Given the description of an element on the screen output the (x, y) to click on. 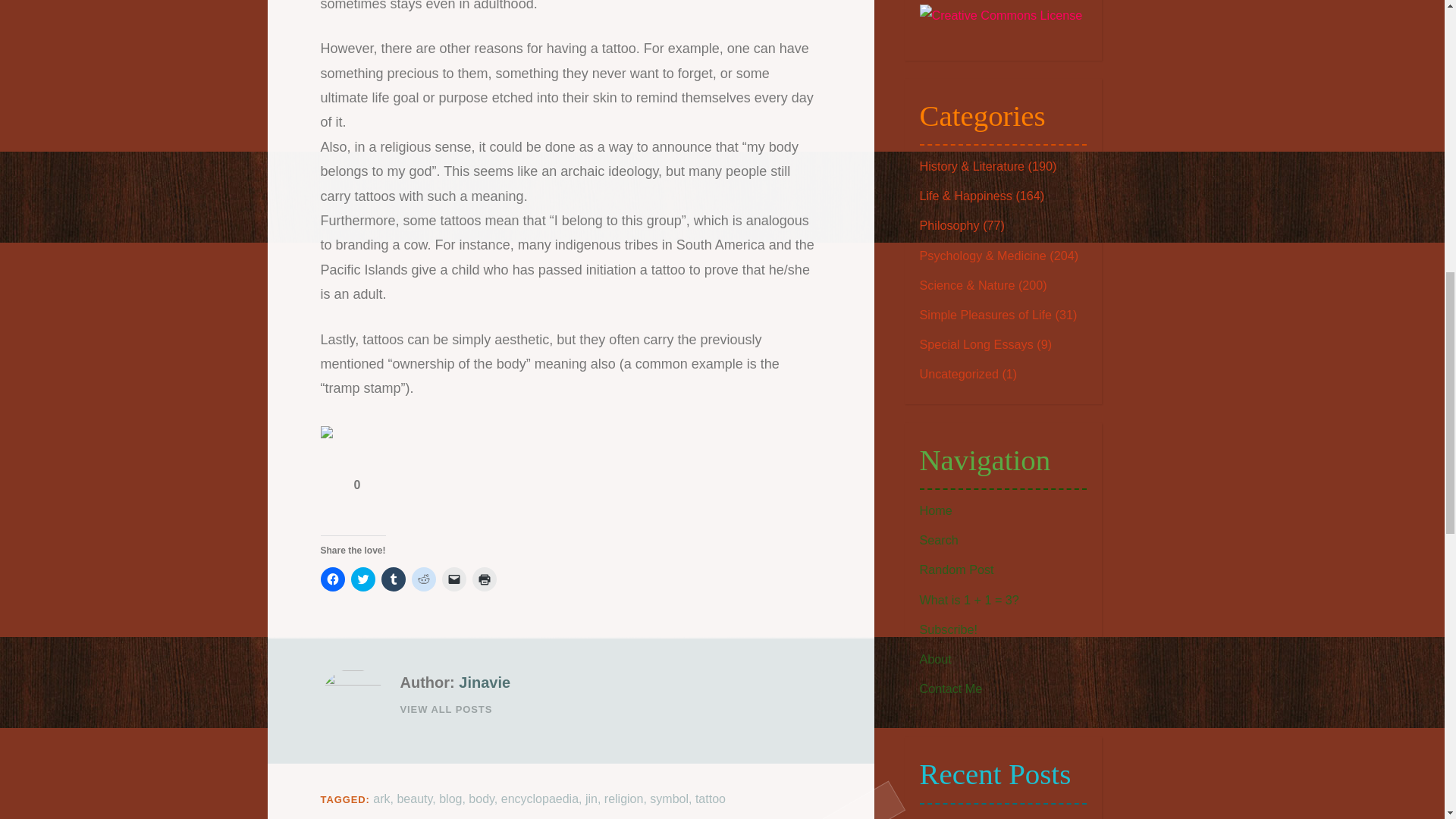
body (481, 798)
VIEW ALL POSTS (610, 709)
Click to email a link to a friend (453, 579)
encyclopaedia (539, 798)
Click to print (483, 579)
ark (381, 798)
tattoo (710, 798)
jin (590, 798)
Click to share on Reddit (422, 579)
Click to share on Twitter (362, 579)
blog (450, 798)
beauty (414, 798)
Jinavie (484, 682)
Click to share on Tumblr (392, 579)
religion (623, 798)
